Given the description of an element on the screen output the (x, y) to click on. 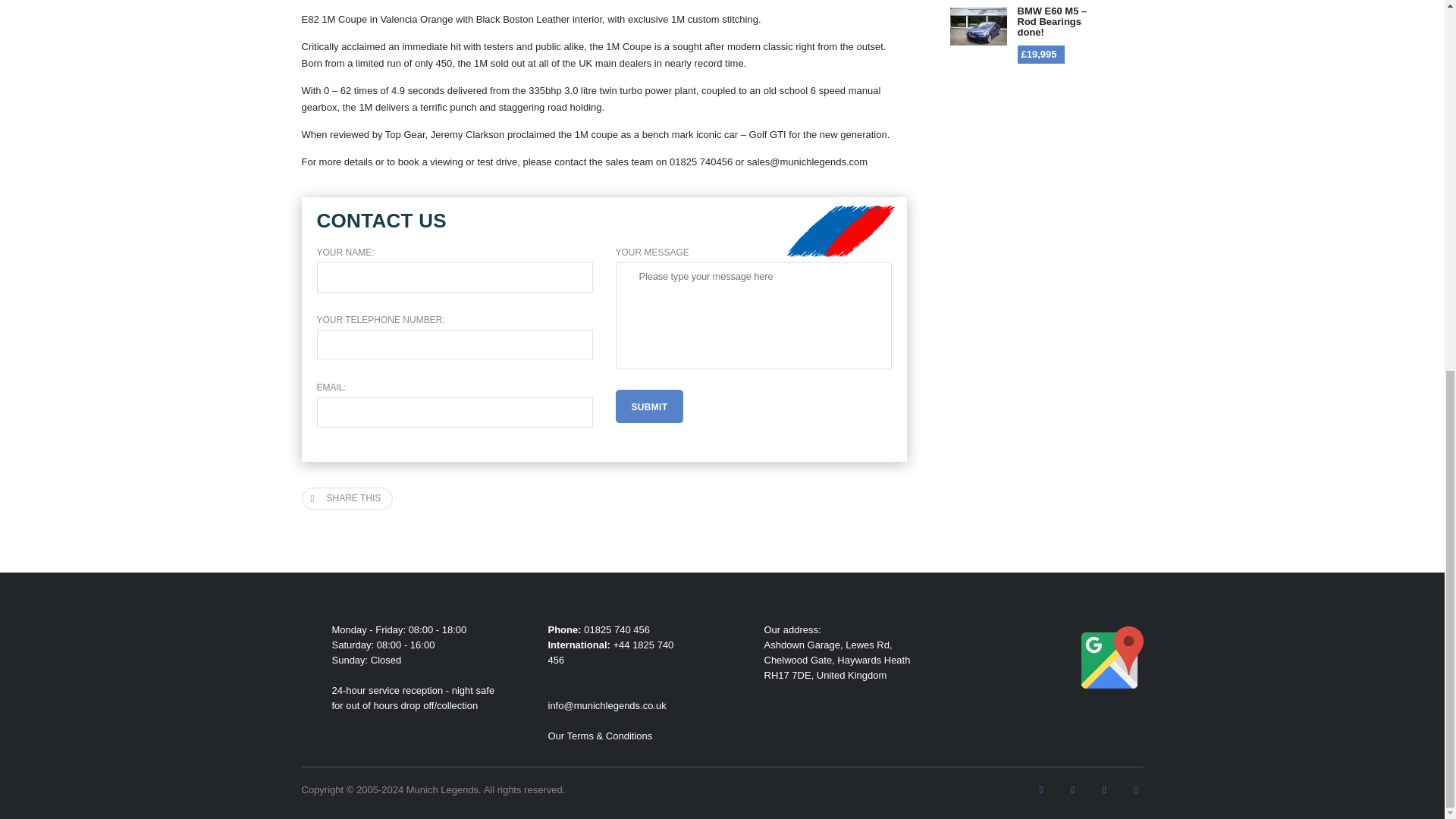
Submit (649, 406)
Share this (347, 498)
